Given the description of an element on the screen output the (x, y) to click on. 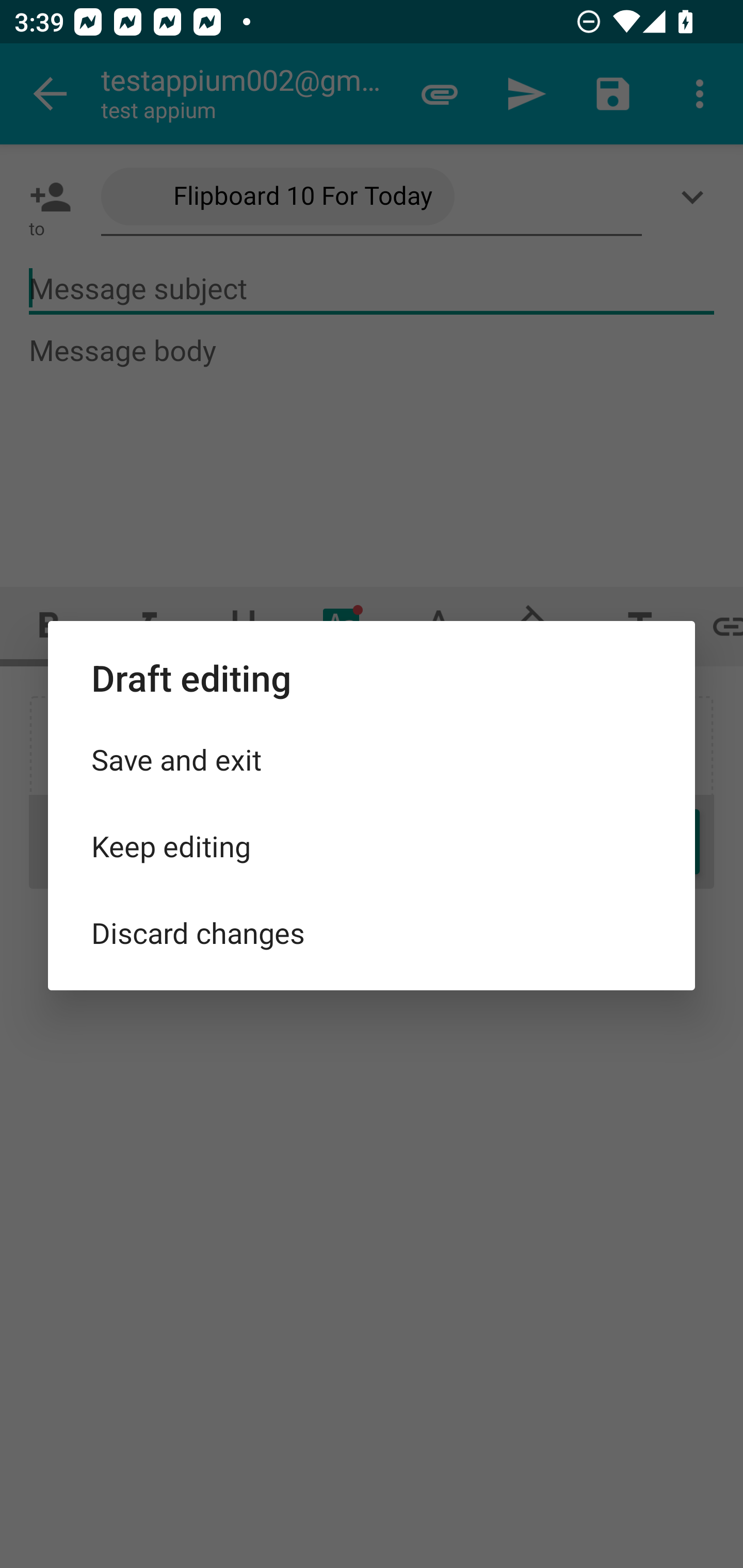
Save and exit (371, 759)
Keep editing (371, 845)
Discard changes (371, 932)
